Given the description of an element on the screen output the (x, y) to click on. 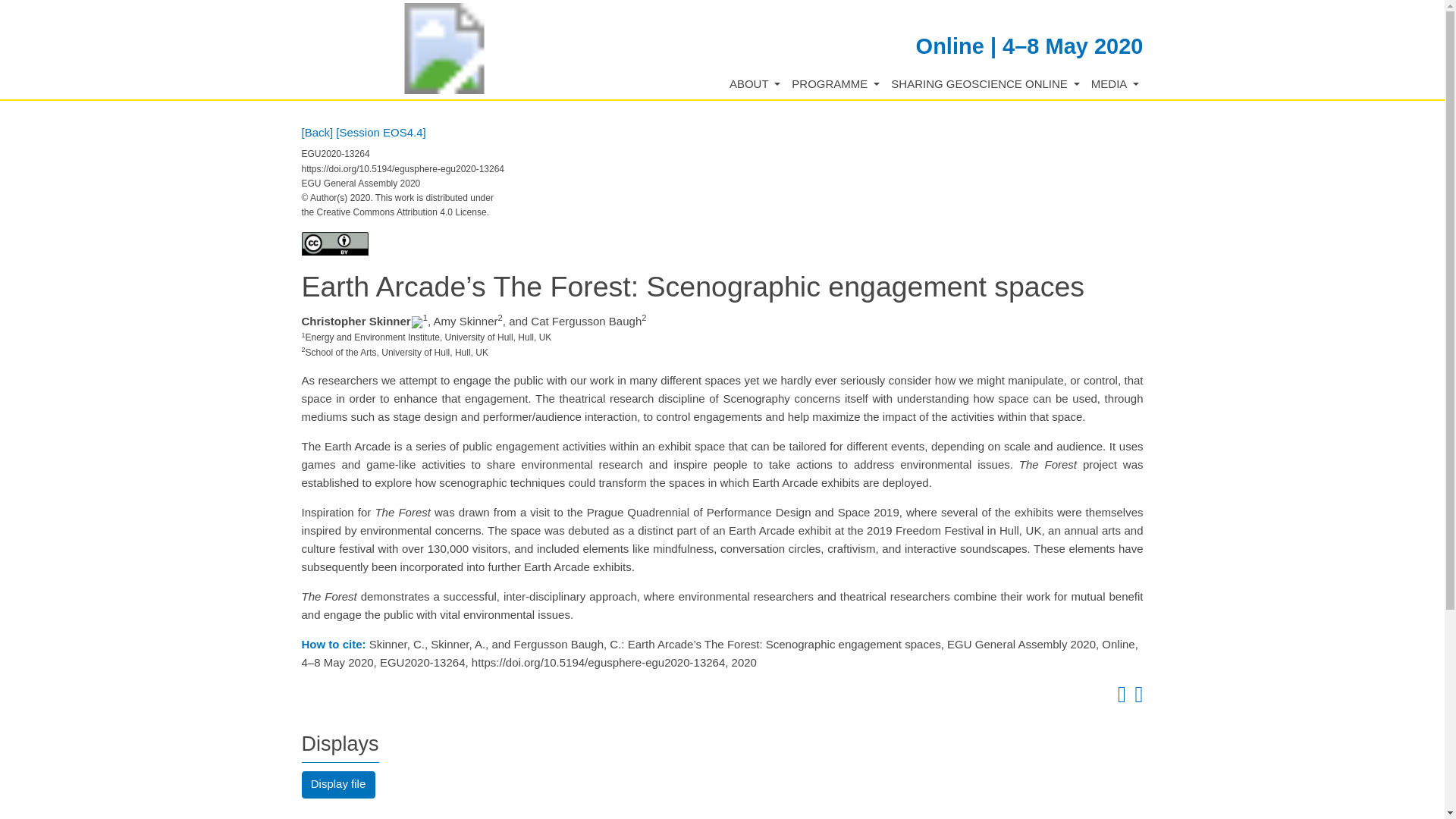
PROGRAMME (835, 84)
MEDIA (1114, 84)
Open QR code linking to abstract URL (1135, 697)
ABOUT (754, 84)
SHARING GEOSCIENCE ONLINE (985, 84)
Display file (338, 784)
Copy to clipboard (1118, 697)
